Given the description of an element on the screen output the (x, y) to click on. 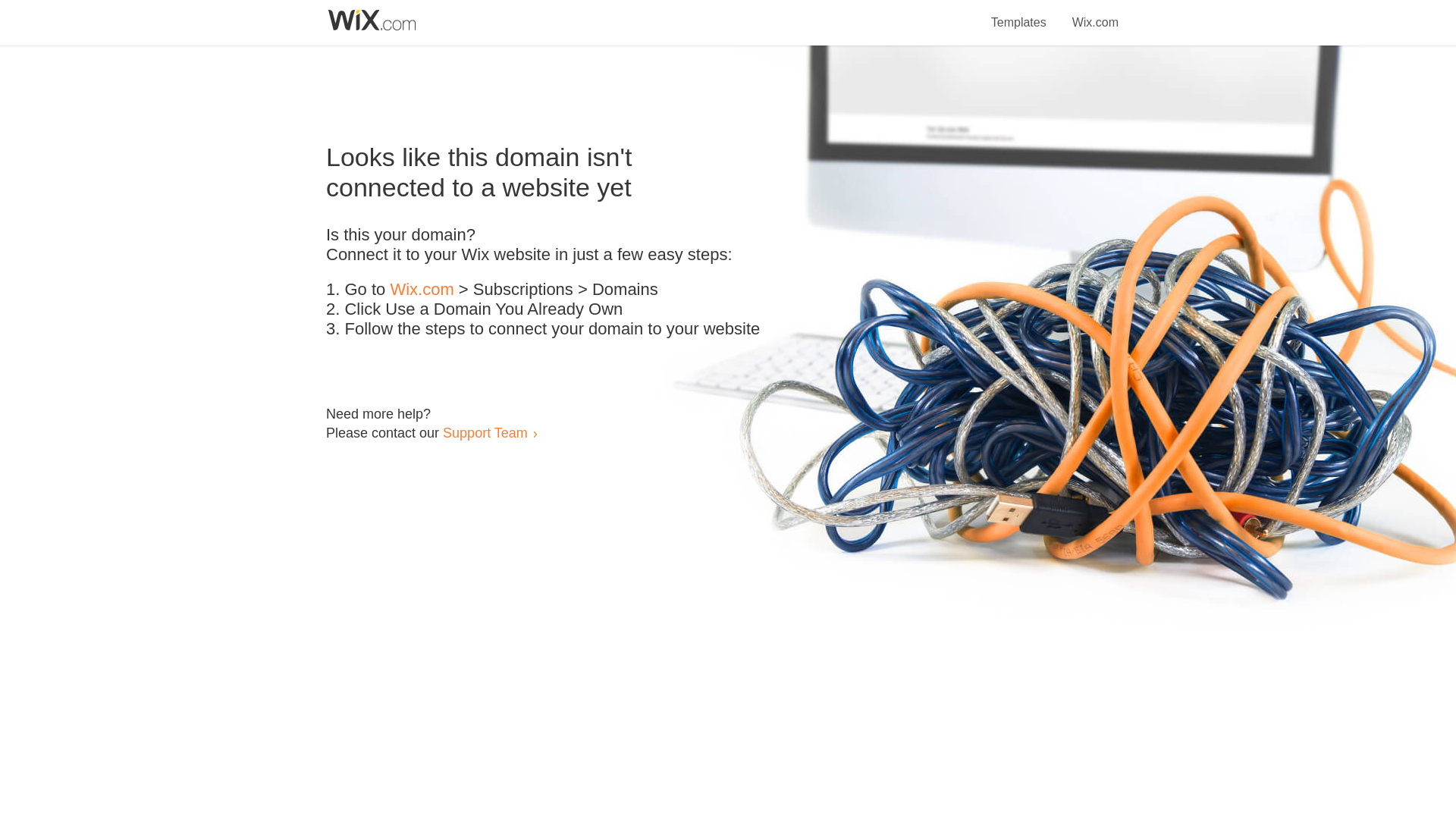
Wix.com (421, 289)
Templates (1018, 14)
Wix.com (1095, 14)
Support Team (484, 432)
